Given the description of an element on the screen output the (x, y) to click on. 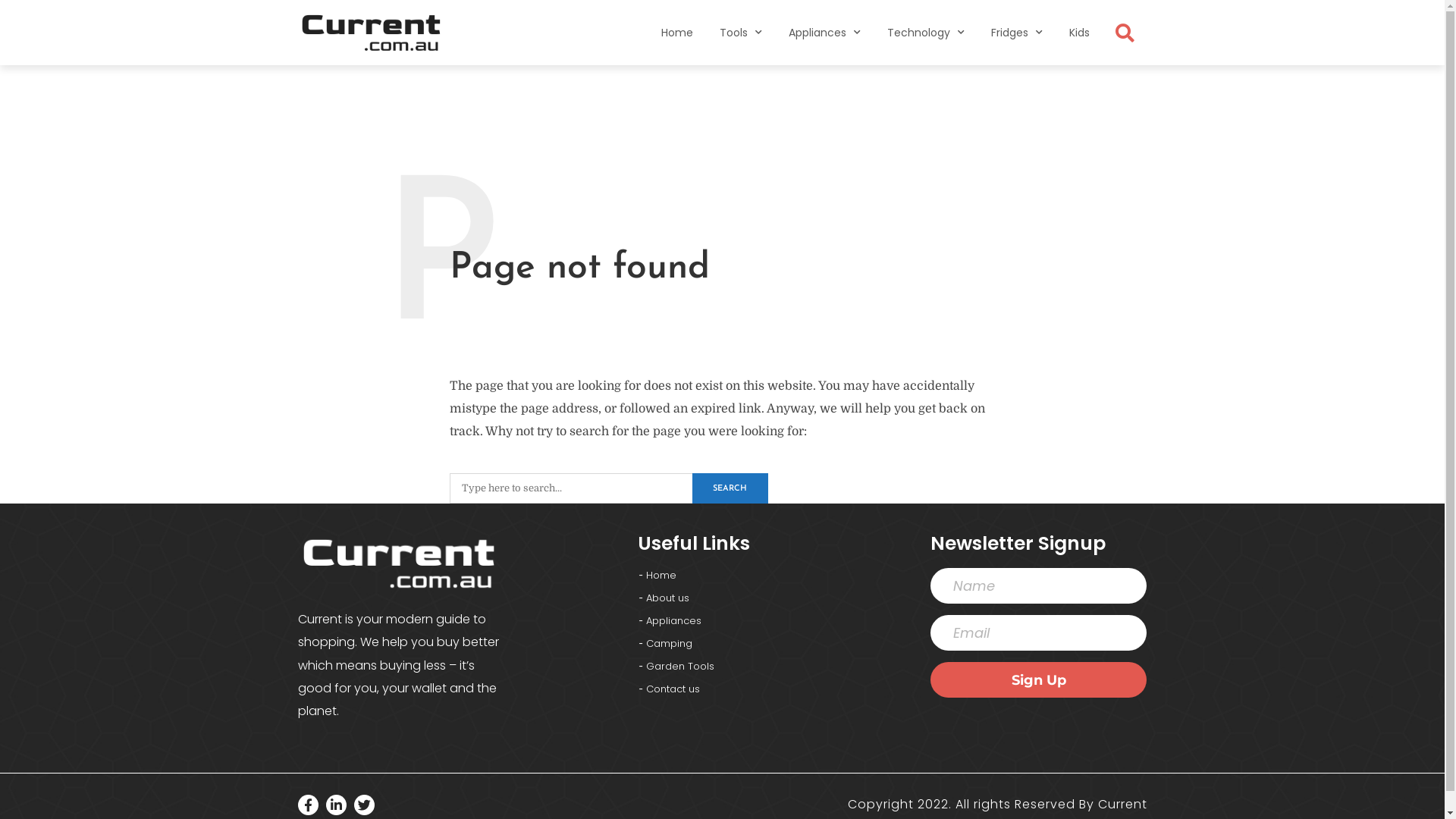
Home Element type: text (677, 32)
Tools Element type: text (740, 32)
Technology Element type: text (925, 32)
Garden Tools Element type: text (780, 666)
Fridges Element type: text (1016, 32)
Camping Element type: text (780, 643)
Sign Up Element type: text (1038, 679)
Appliances Element type: text (824, 32)
SEARCH Element type: text (729, 488)
About us Element type: text (780, 597)
Kids Element type: text (1079, 32)
Contact us Element type: text (780, 688)
Appliances Element type: text (780, 620)
Home Element type: text (780, 575)
